Given the description of an element on the screen output the (x, y) to click on. 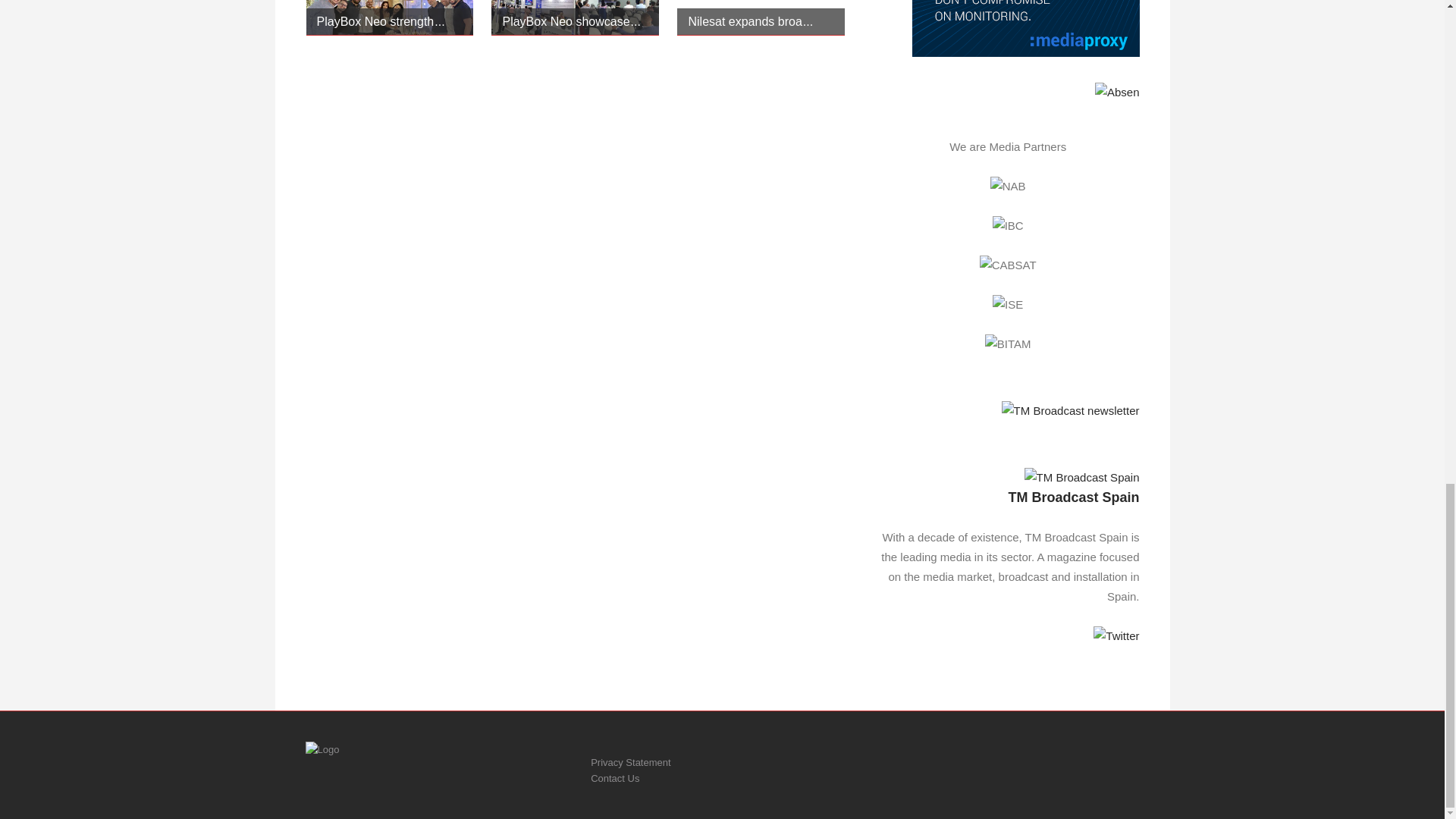
Nilesat expands broa (749, 21)
PlayBox Neo strengthens partnership with CIS Group in LATAM (381, 21)
PlayBox Neo strength (381, 21)
PlayBox Neo showcase (571, 21)
PlayBox Neo strengthens partnership with CIS Group in LATAM (389, 18)
